Given the description of an element on the screen output the (x, y) to click on. 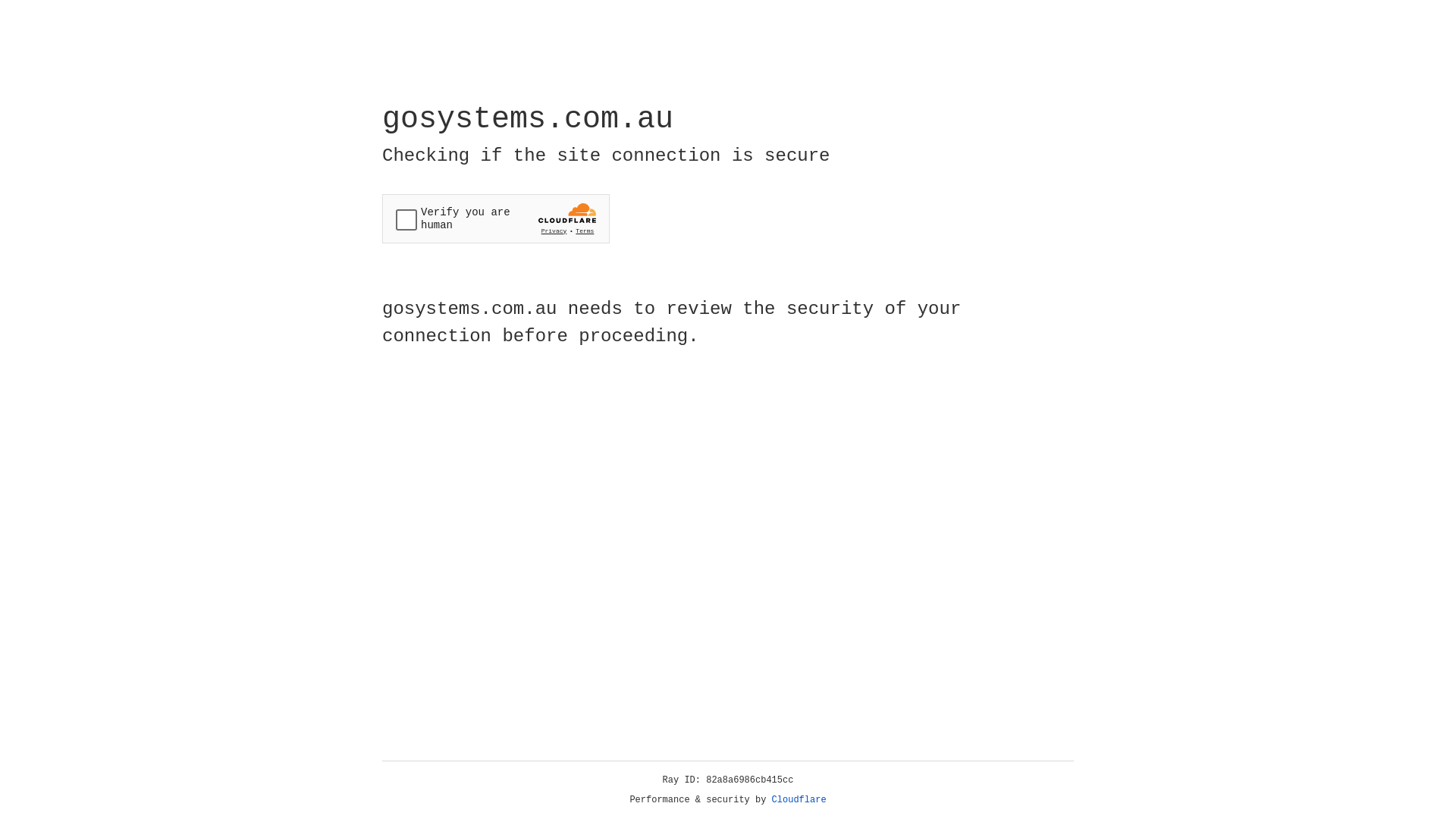
Cloudflare Element type: text (798, 799)
Widget containing a Cloudflare security challenge Element type: hover (495, 218)
